Given the description of an element on the screen output the (x, y) to click on. 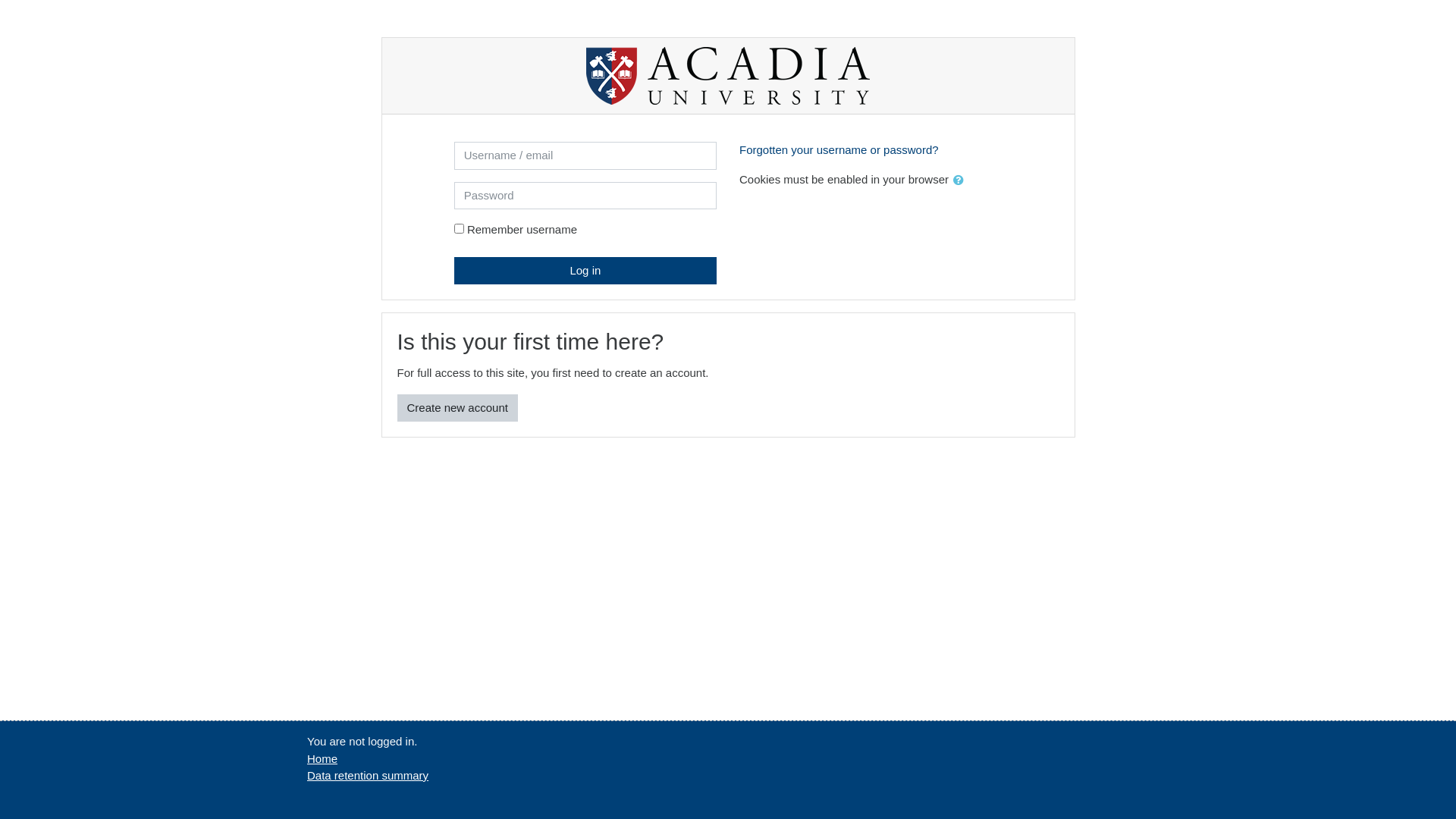
Home Element type: text (322, 758)
Data retention summary Element type: text (367, 774)
Help with Cookies must be enabled in your browser Element type: hover (958, 178)
Acadia University Placement Tests Element type: hover (727, 75)
Create new account Element type: text (457, 408)
Log in Element type: text (585, 270)
Forgotten your username or password? Element type: text (838, 149)
